Given the description of an element on the screen output the (x, y) to click on. 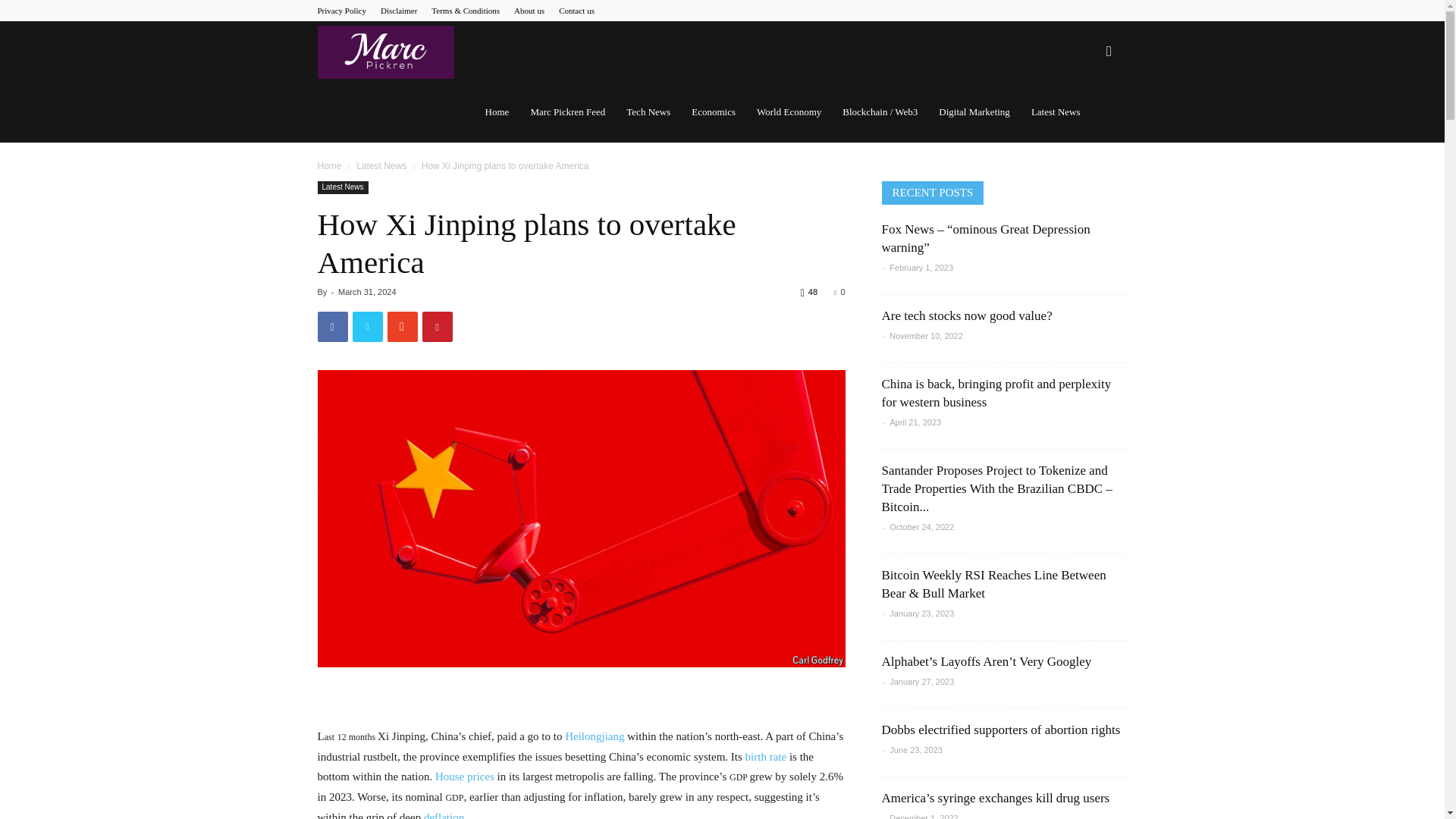
Marc Pickren Feed (567, 111)
Home (328, 165)
Digital Marketing (974, 111)
Latest News (381, 165)
Disclaimer (398, 10)
Search (1085, 124)
Latest News (1055, 111)
About us (528, 10)
0 (839, 291)
Latest News (342, 187)
View all posts in Latest News (381, 165)
Economics (713, 111)
Contact us (576, 10)
Privacy Policy (341, 10)
Tech News (648, 111)
